Given the description of an element on the screen output the (x, y) to click on. 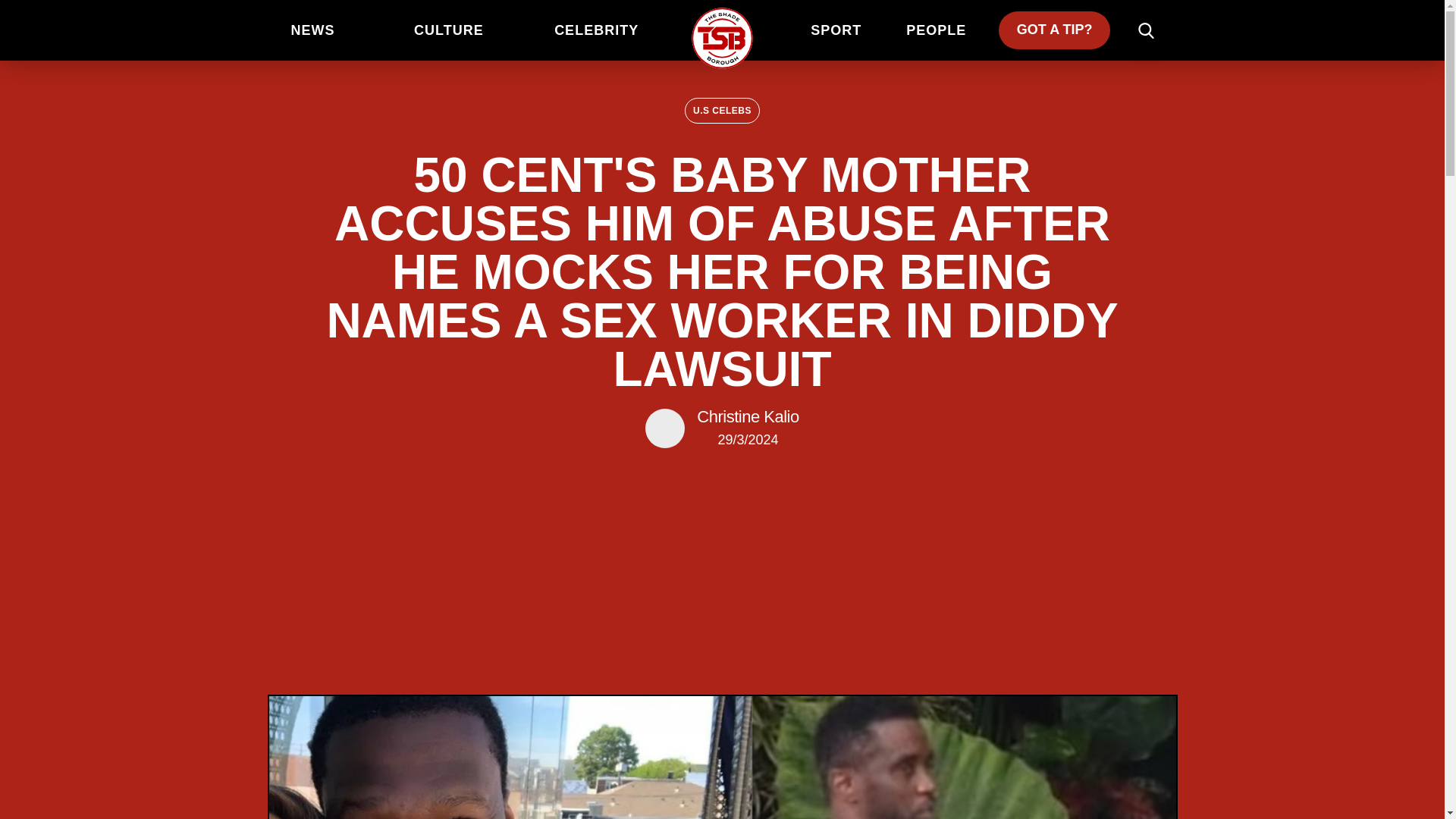
CELEBRITY (596, 30)
PEOPLE (936, 30)
NEWS (312, 30)
CULTURE (449, 30)
SPORT (836, 30)
GOT A TIP? (1054, 30)
